Given the description of an element on the screen output the (x, y) to click on. 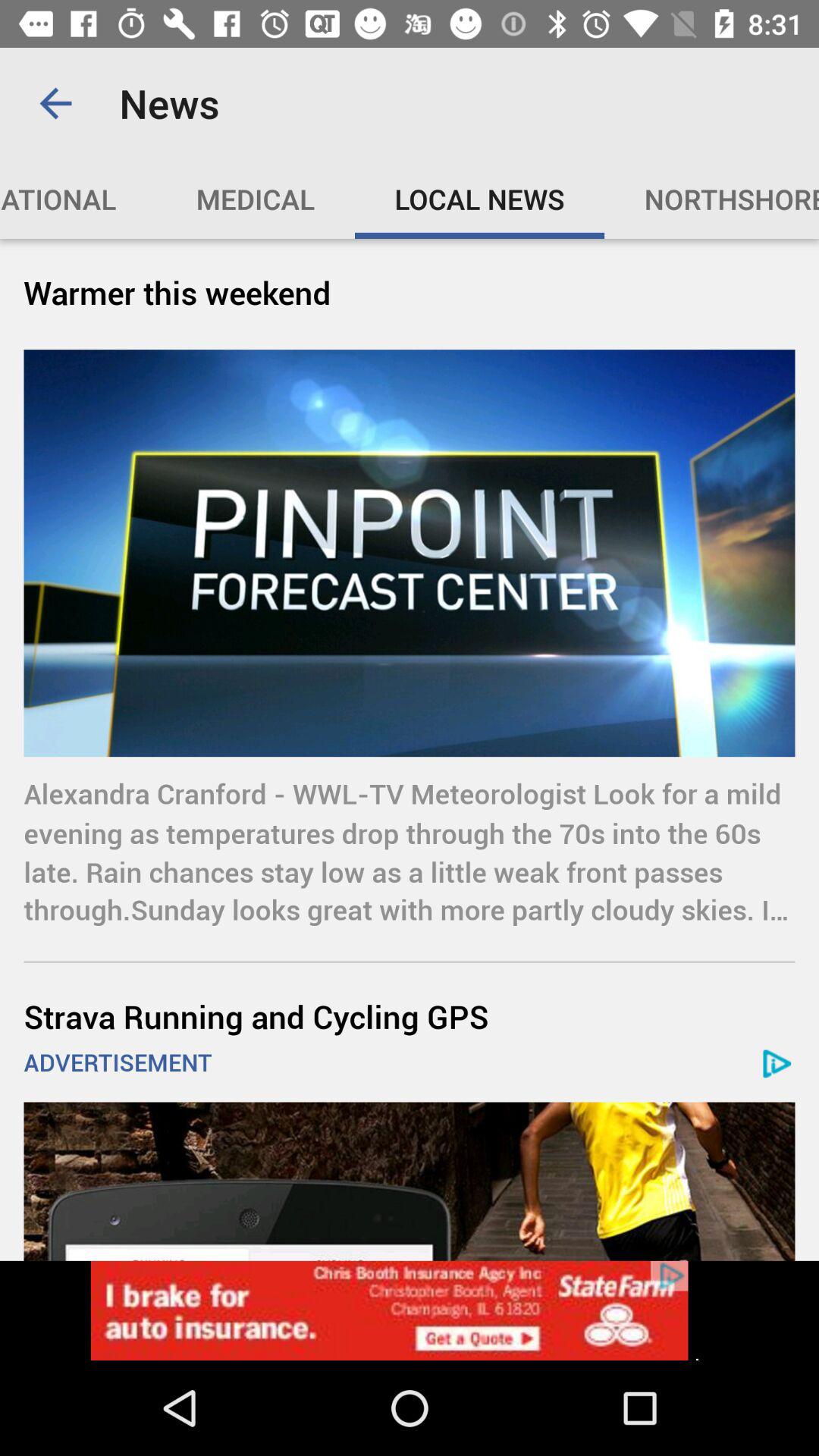
click the strava running and icon (409, 1015)
